Given the description of an element on the screen output the (x, y) to click on. 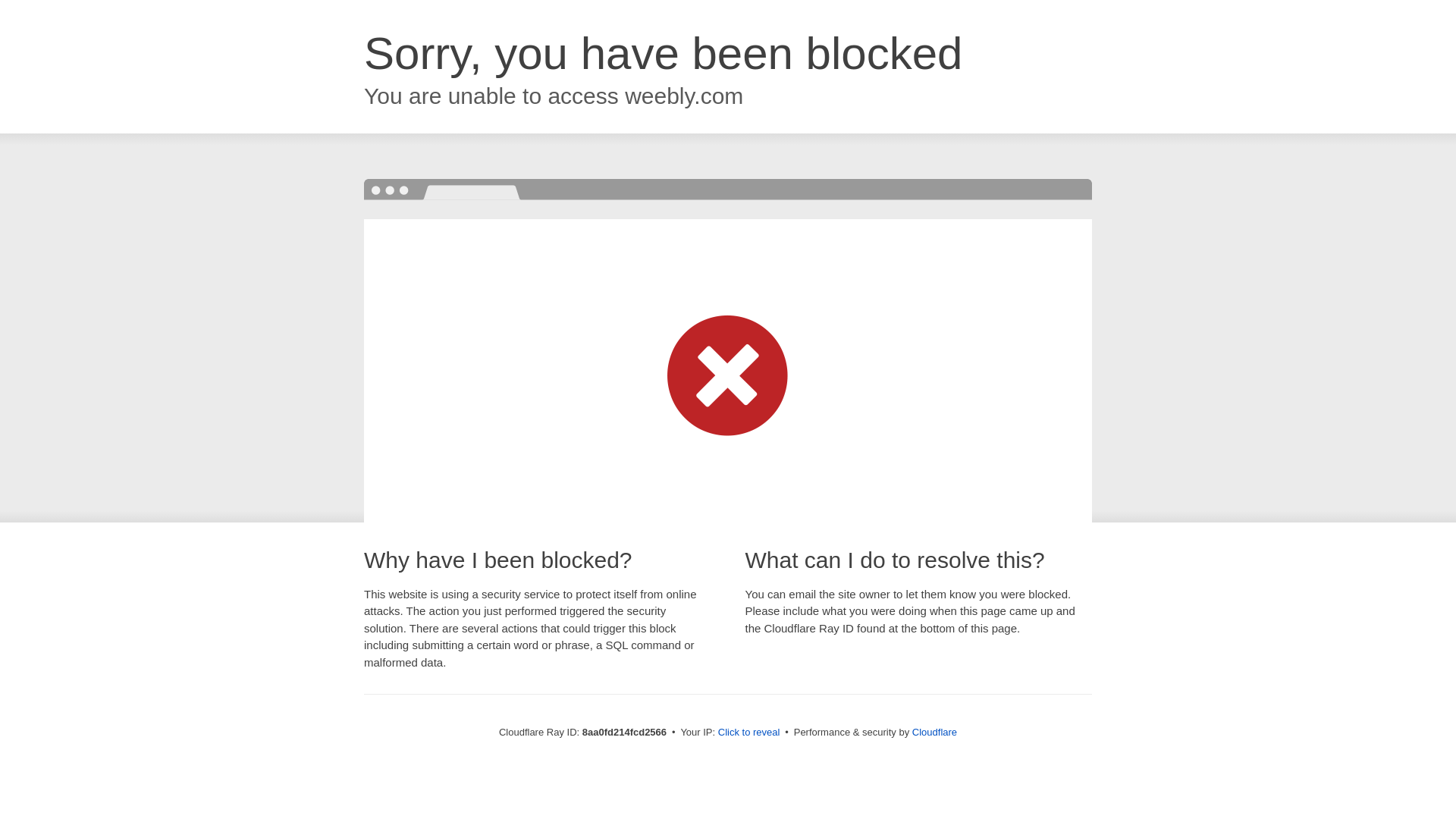
Click to reveal (748, 732)
Cloudflare (934, 731)
